Given the description of an element on the screen output the (x, y) to click on. 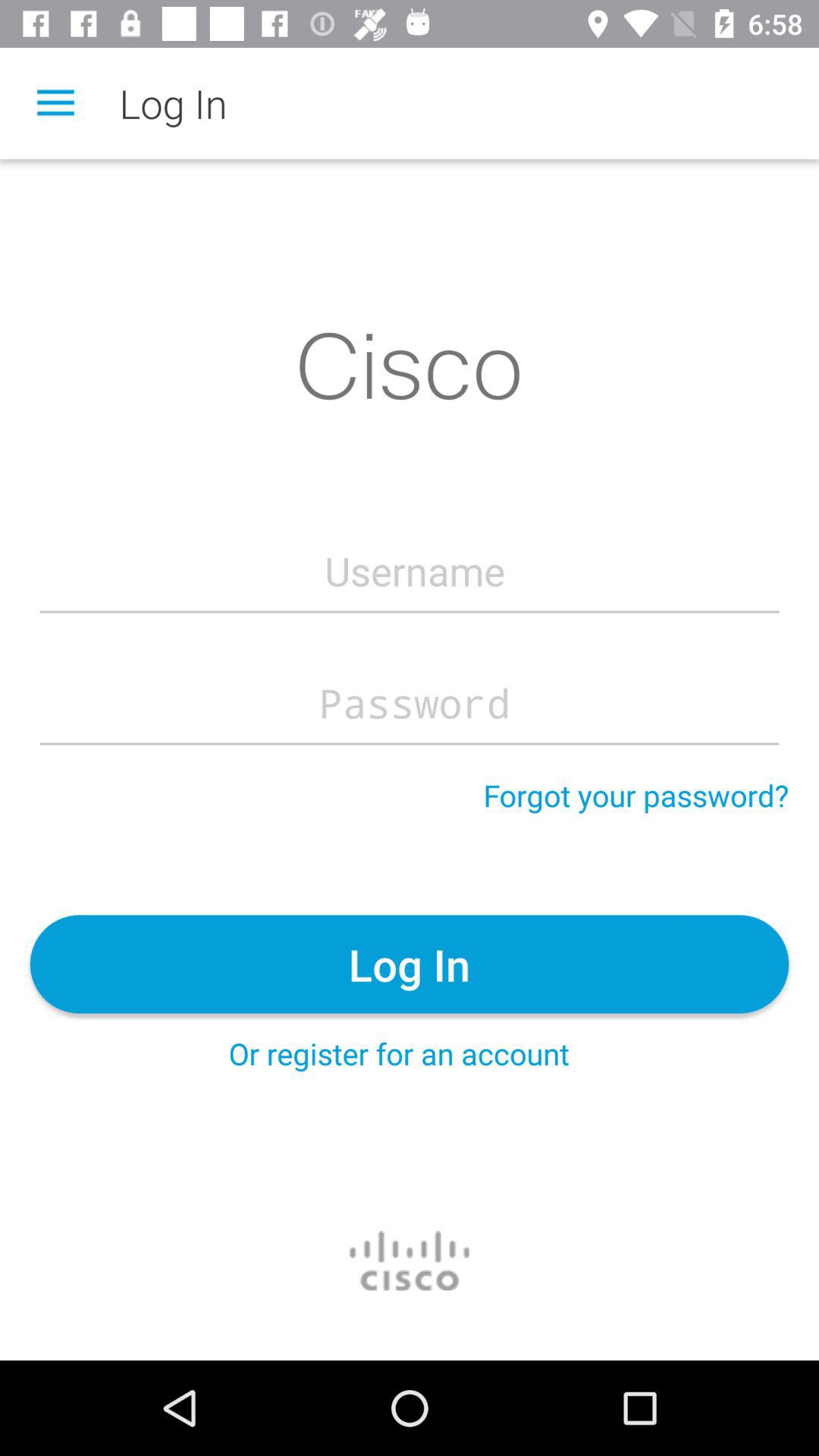
choose the icon next to the log in app (55, 103)
